Given the description of an element on the screen output the (x, y) to click on. 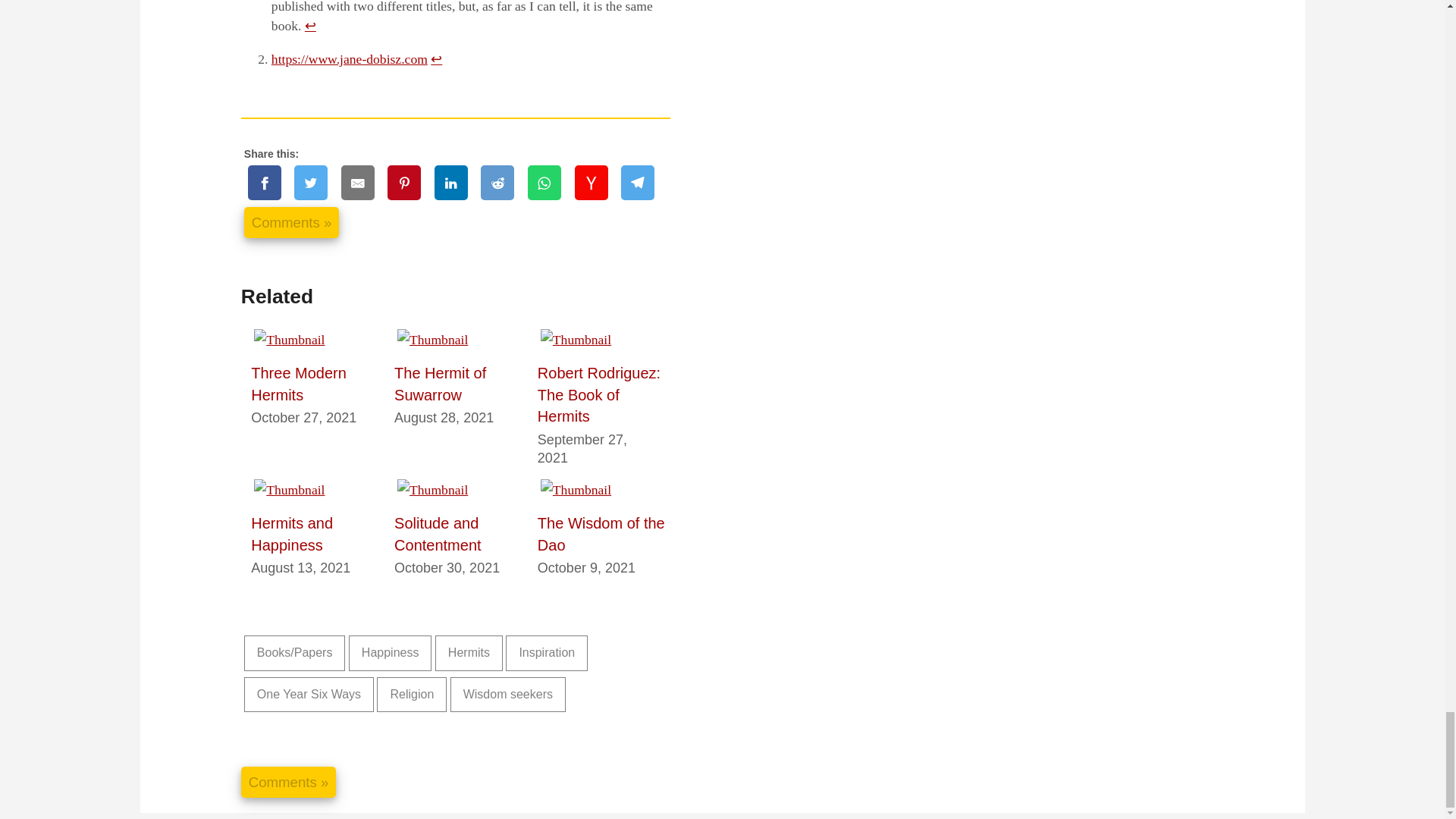
Hermits and Happiness (291, 534)
Three Modern Hermits (298, 383)
Robert Rodriguez: The Book of Hermits (599, 394)
The Hermit of Suwarrow (440, 383)
